Given the description of an element on the screen output the (x, y) to click on. 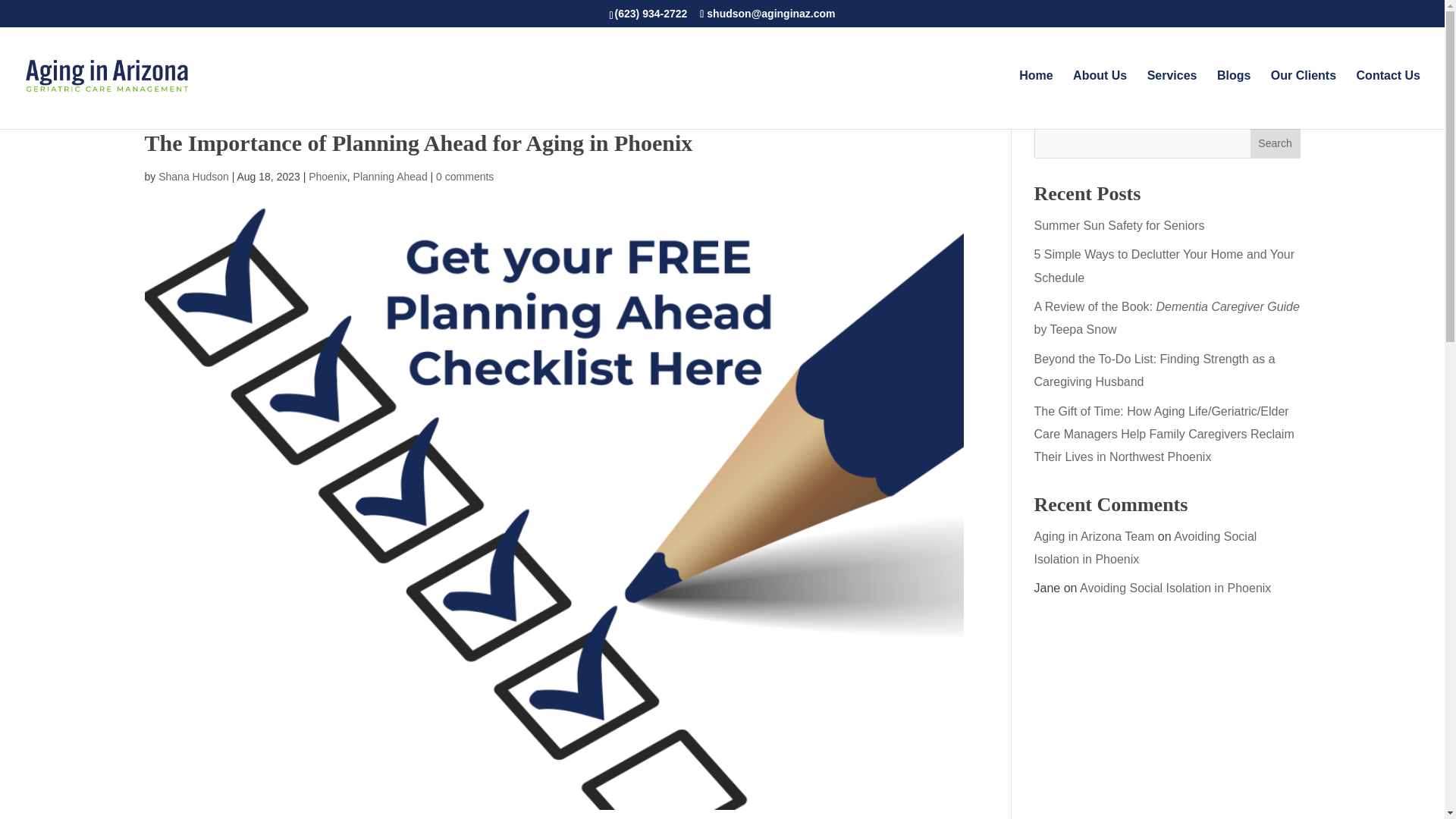
0 comments (464, 176)
Posts by Shana Hudson (193, 176)
Shana Hudson (193, 176)
Our Clients (1303, 99)
Phoenix (327, 176)
Summer Sun Safety for Seniors (1119, 225)
Contact Us (1388, 99)
Aging in Arizona Team (1093, 535)
A Review of the Book: Dementia Caregiver Guide by Teepa Snow (1166, 317)
Search (1275, 142)
